Given the description of an element on the screen output the (x, y) to click on. 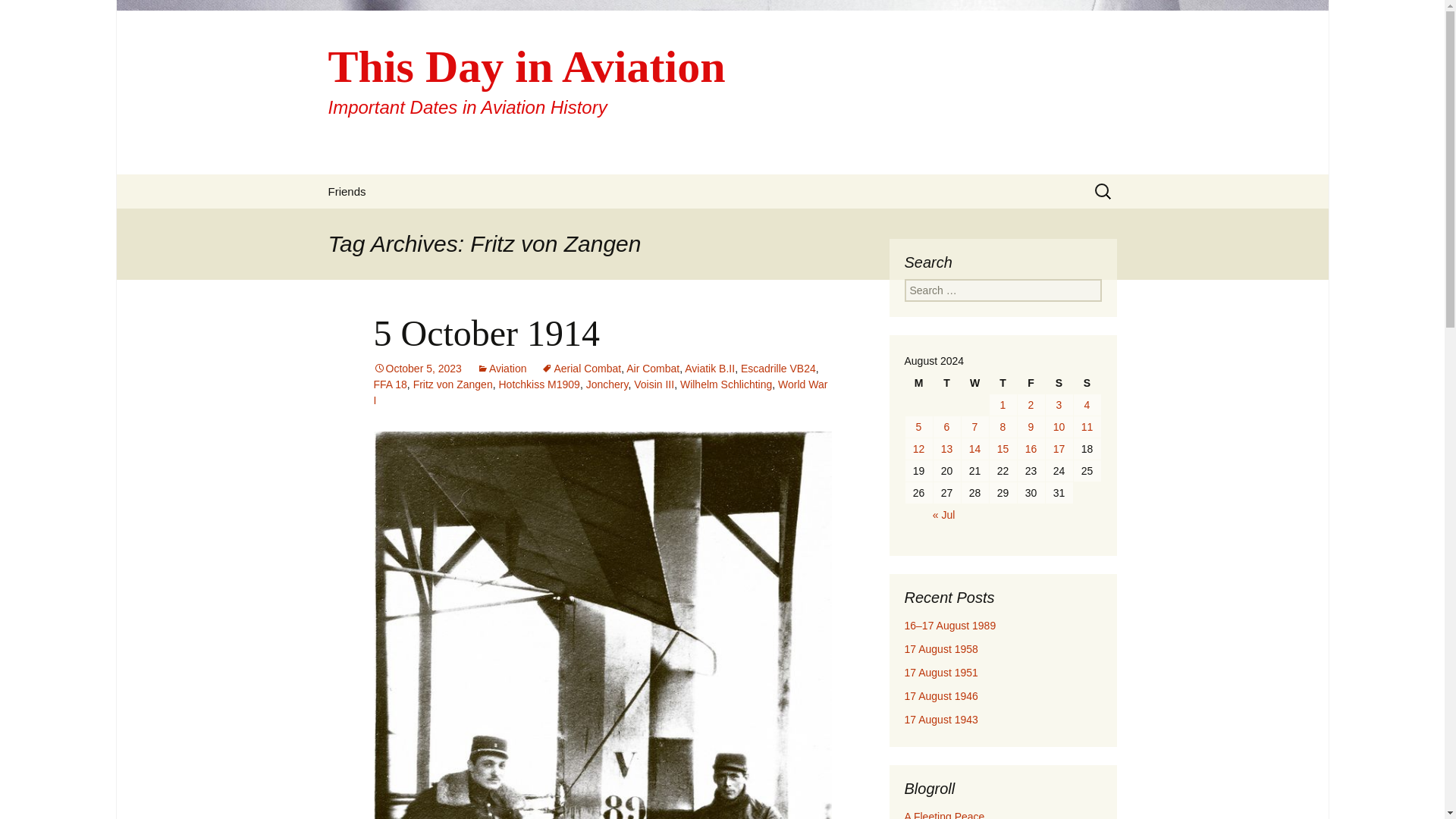
Aviatik B.II (709, 368)
7 (974, 426)
10 (1058, 426)
Saturday (1058, 382)
Escadrille VB24 (778, 368)
5 (919, 426)
Friday (1031, 382)
Fritz von Zangen (453, 384)
Air Combat (652, 368)
Wilhelm Schlichting (725, 384)
